Given the description of an element on the screen output the (x, y) to click on. 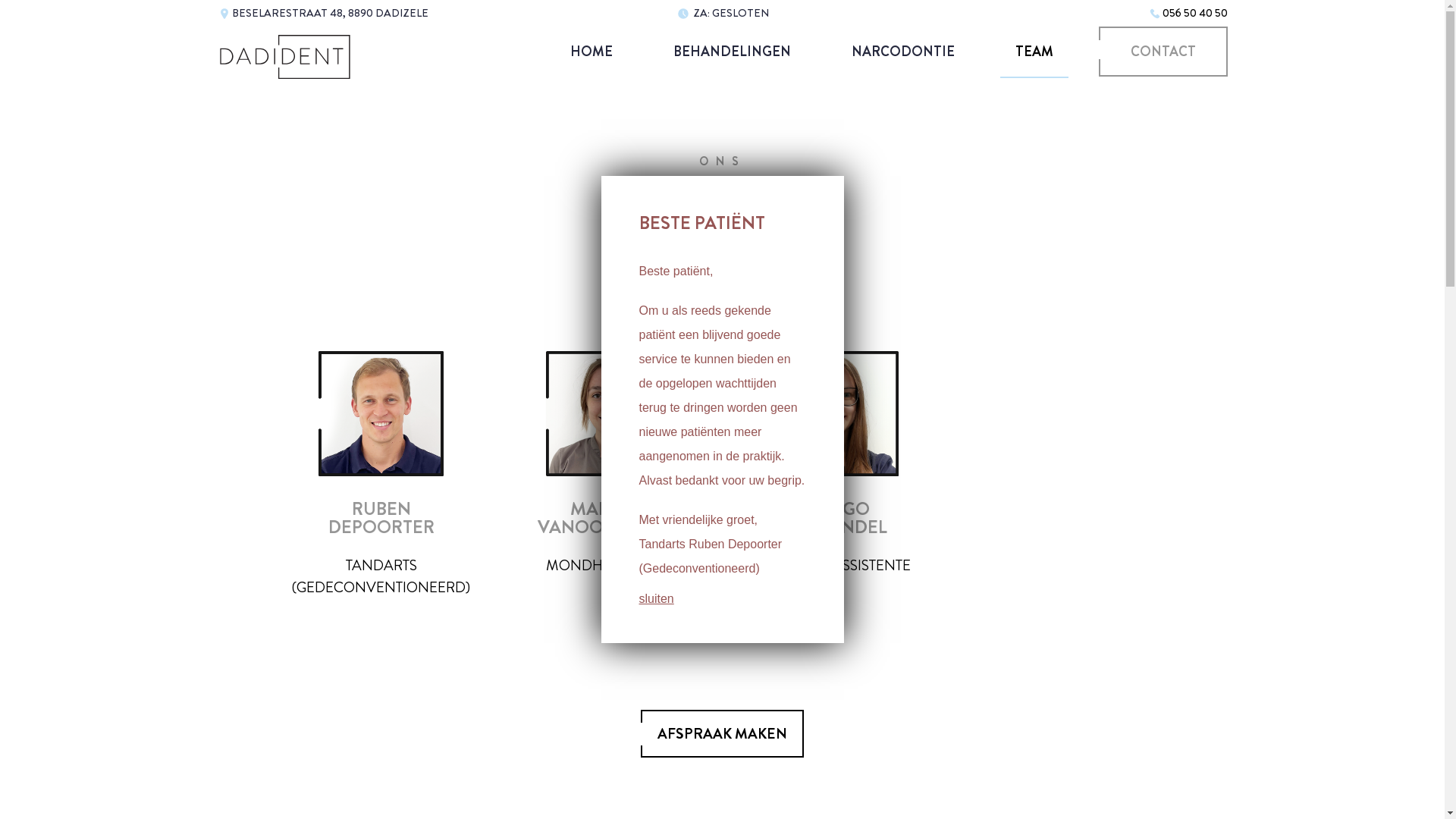
HOME Element type: text (591, 52)
056 50 40 50 Element type: text (1194, 12)
AFSPRAAK MAKEN Element type: text (721, 733)
TEAM Element type: text (1034, 52)
BEHANDELINGEN Element type: text (732, 52)
NARCODONTIE Element type: text (902, 52)
CONTACT Element type: text (1162, 51)
